Given the description of an element on the screen output the (x, y) to click on. 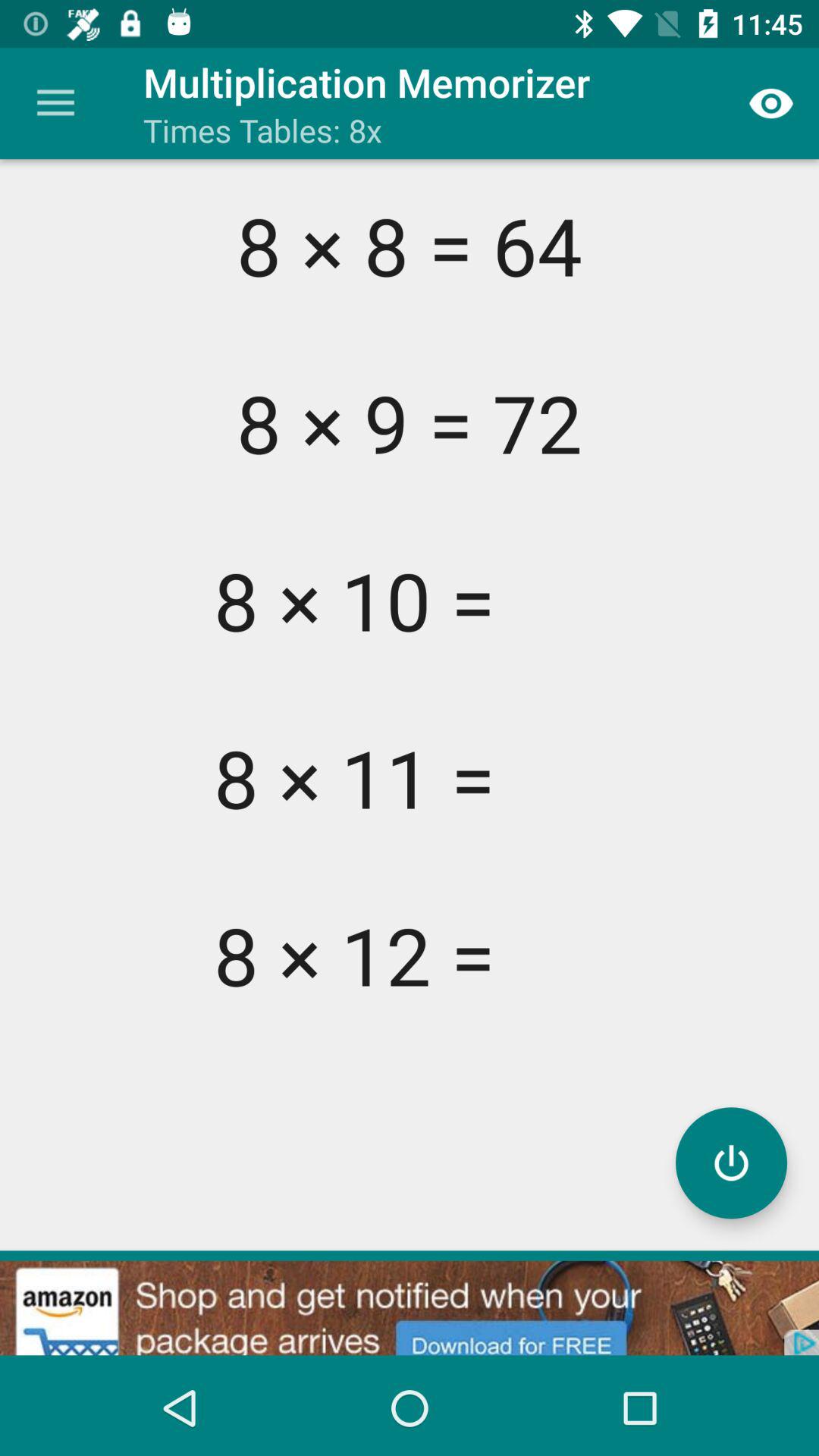
power on (731, 1162)
